Given the description of an element on the screen output the (x, y) to click on. 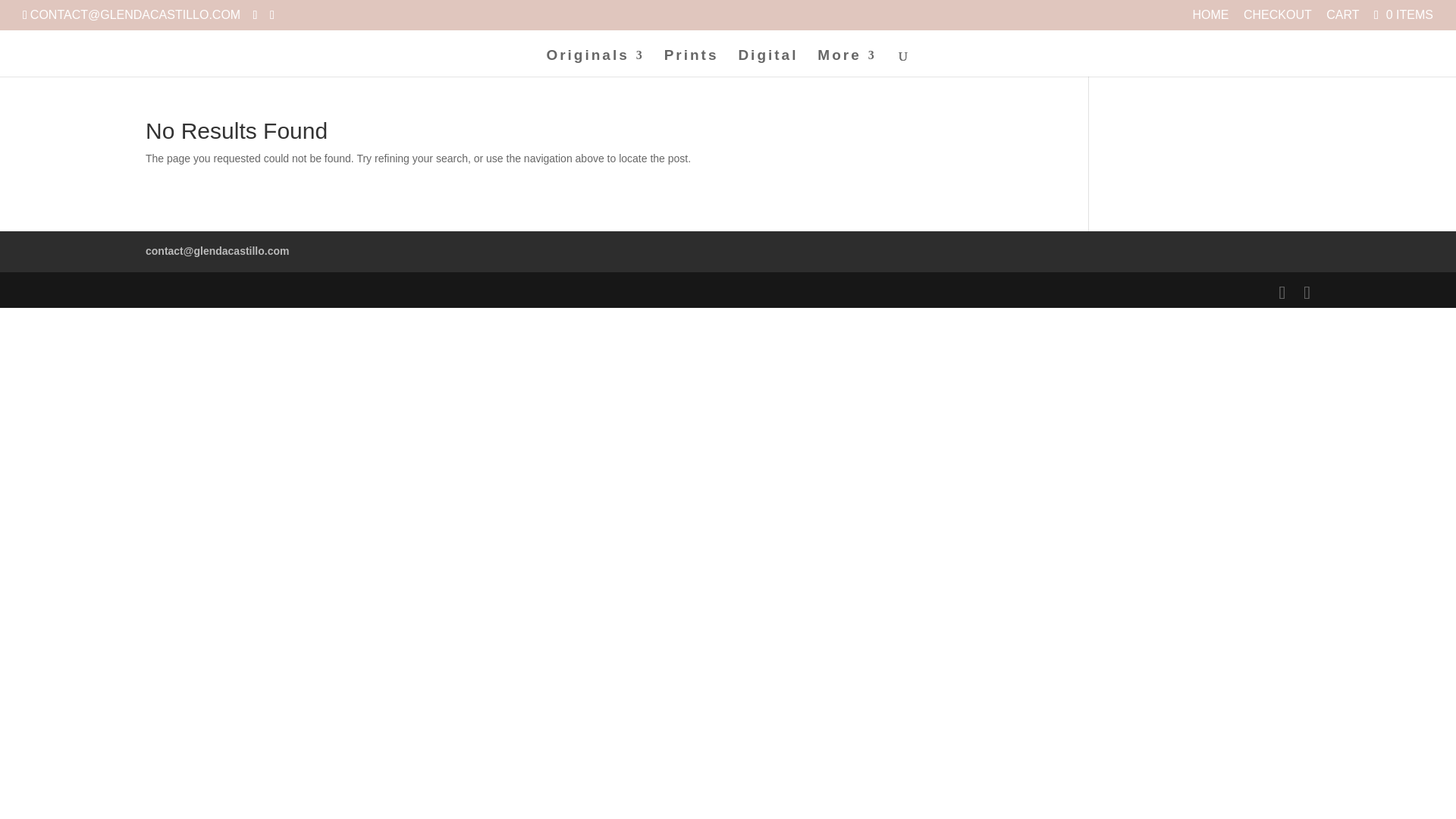
HOME (1210, 19)
0 ITEMS (1401, 14)
CHECKOUT (1277, 19)
Originals (594, 62)
CART (1342, 19)
Digital (767, 62)
Prints (691, 62)
More (846, 62)
